Given the description of an element on the screen output the (x, y) to click on. 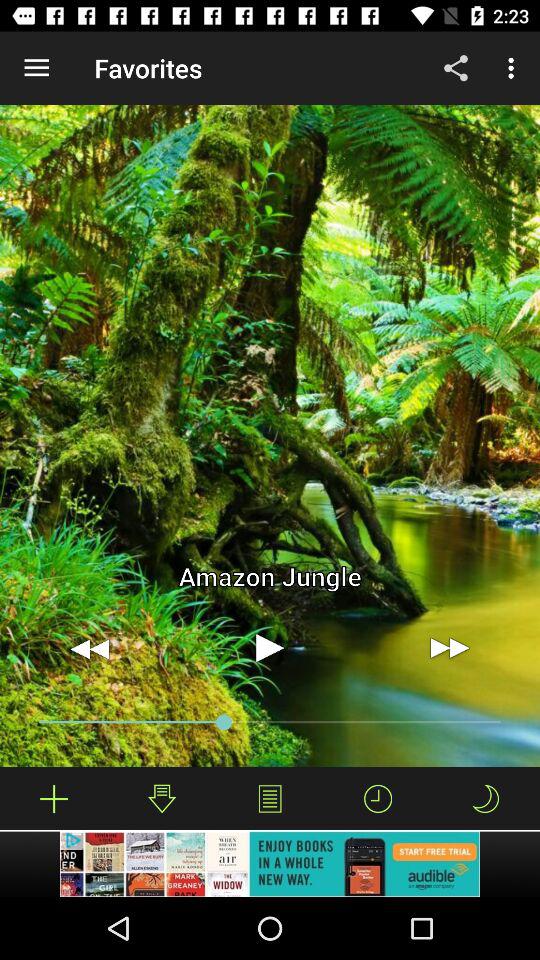
go to options (269, 798)
